Given the description of an element on the screen output the (x, y) to click on. 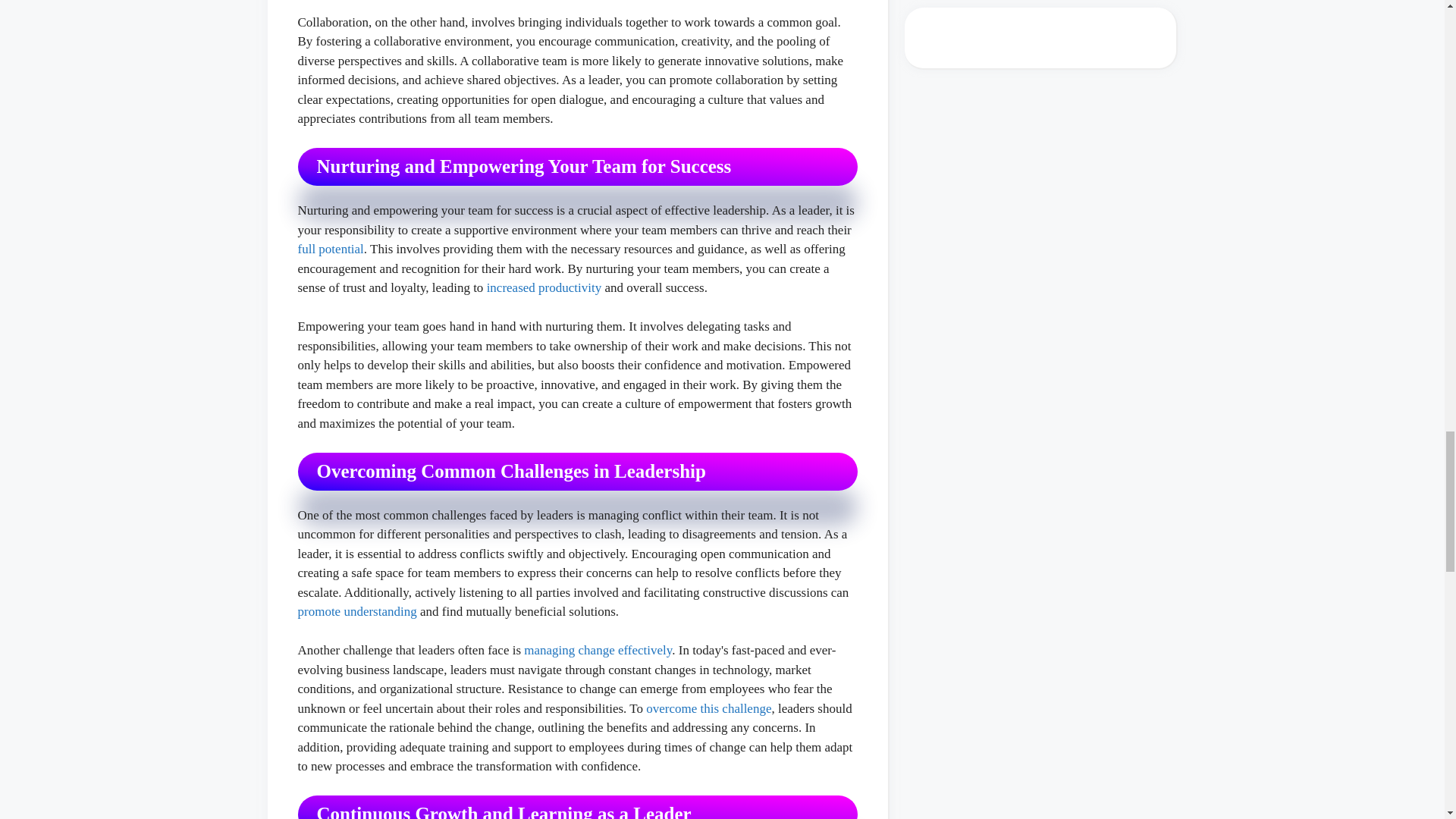
overcome this challenge (708, 708)
increased productivity (544, 287)
managing change effectively (597, 649)
promote understanding (356, 611)
full potential (329, 248)
